Given the description of an element on the screen output the (x, y) to click on. 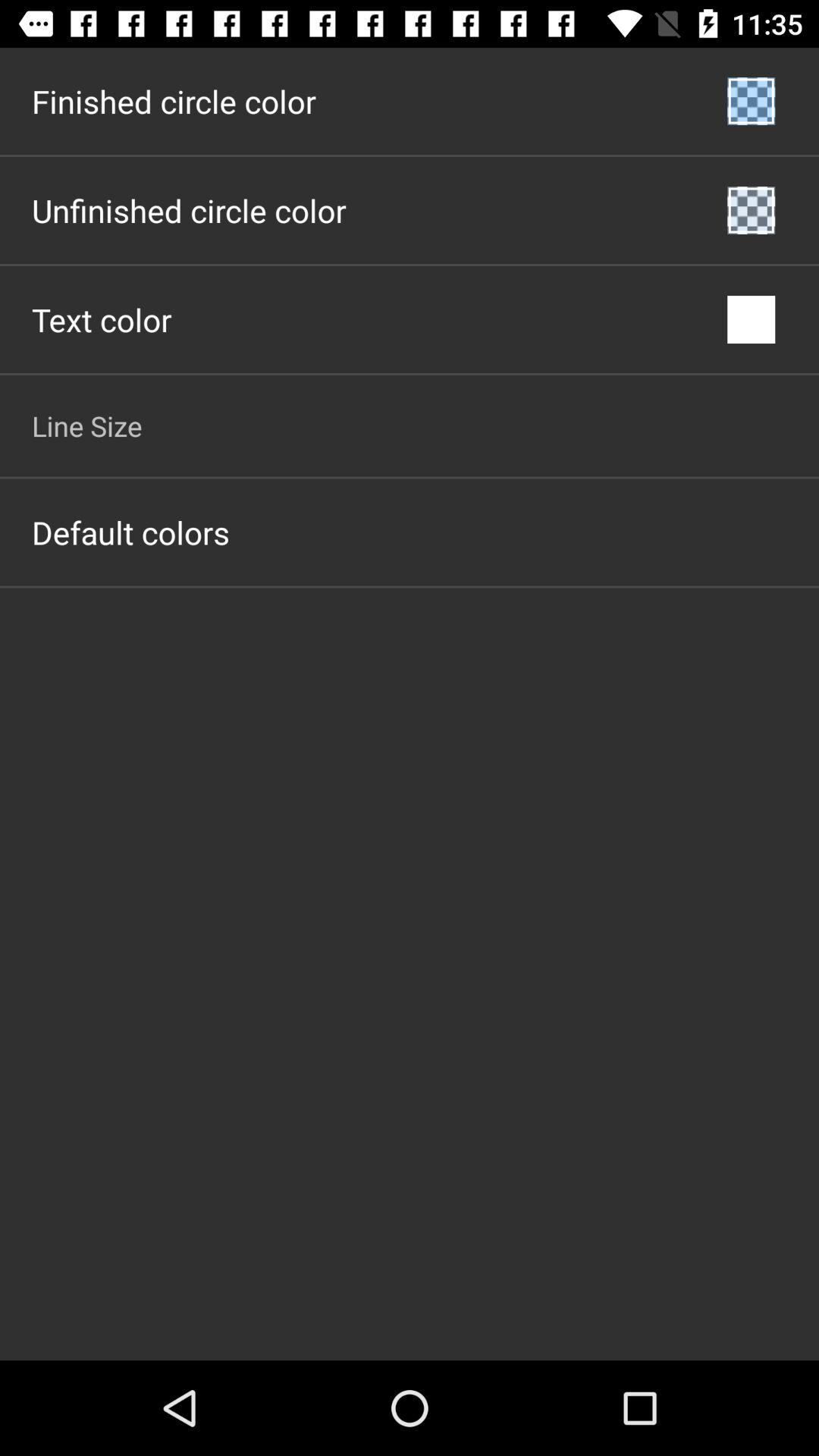
launch icon next to the finished circle color item (751, 101)
